Given the description of an element on the screen output the (x, y) to click on. 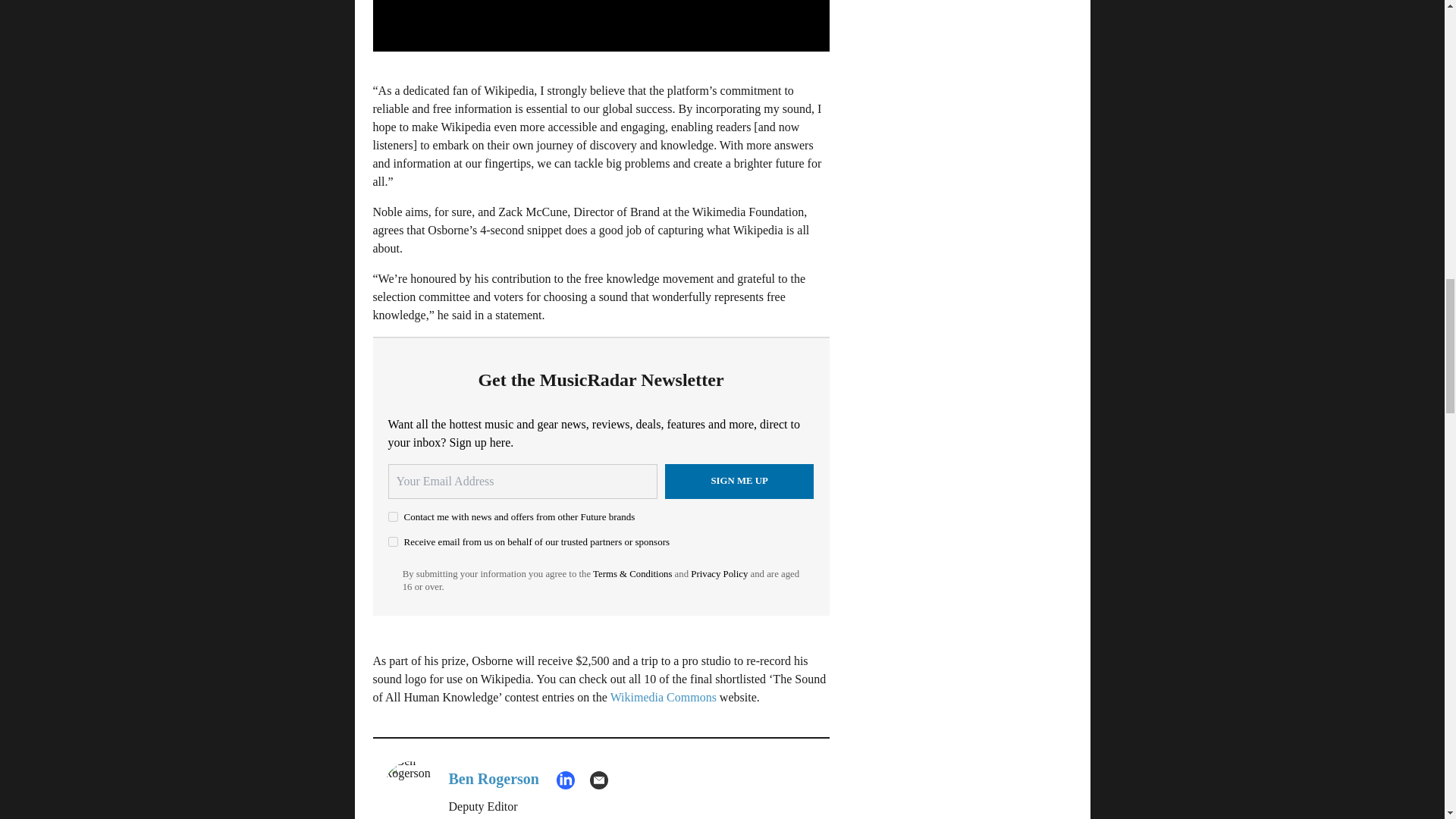
Sign me up (739, 481)
on (392, 516)
on (392, 542)
